Given the description of an element on the screen output the (x, y) to click on. 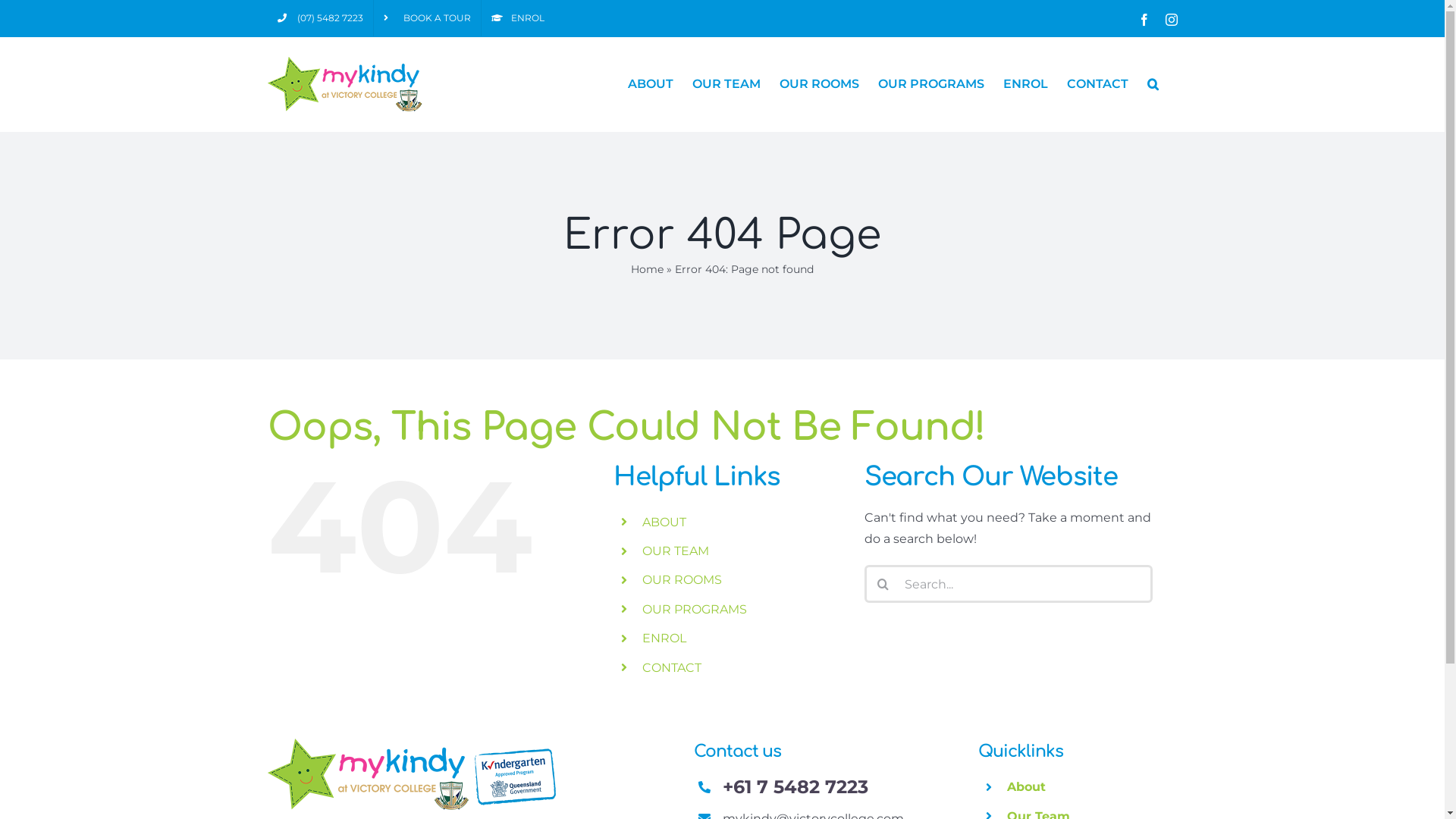
OUR PROGRAMS Element type: text (931, 84)
Home Element type: text (646, 269)
About Element type: text (1026, 786)
+61 7 5482 7223 Element type: text (795, 786)
ENROL Element type: text (1024, 84)
ABOUT Element type: text (664, 521)
myk-Footerx2 Element type: hover (410, 773)
OUR ROOMS Element type: text (819, 84)
OUR TEAM Element type: text (725, 84)
ABOUT Element type: text (650, 84)
ENROL Element type: text (516, 18)
Instagram Element type: text (1170, 19)
CONTACT Element type: text (1096, 84)
Search Element type: hover (1151, 84)
(07) 5482 7223 Element type: text (319, 18)
BOOK A TOUR Element type: text (426, 18)
CONTACT Element type: text (671, 667)
OUR PROGRAMS Element type: text (694, 609)
OUR ROOMS Element type: text (681, 579)
Facebook Element type: text (1143, 19)
ENROL Element type: text (664, 637)
OUR TEAM Element type: text (675, 550)
